Given the description of an element on the screen output the (x, y) to click on. 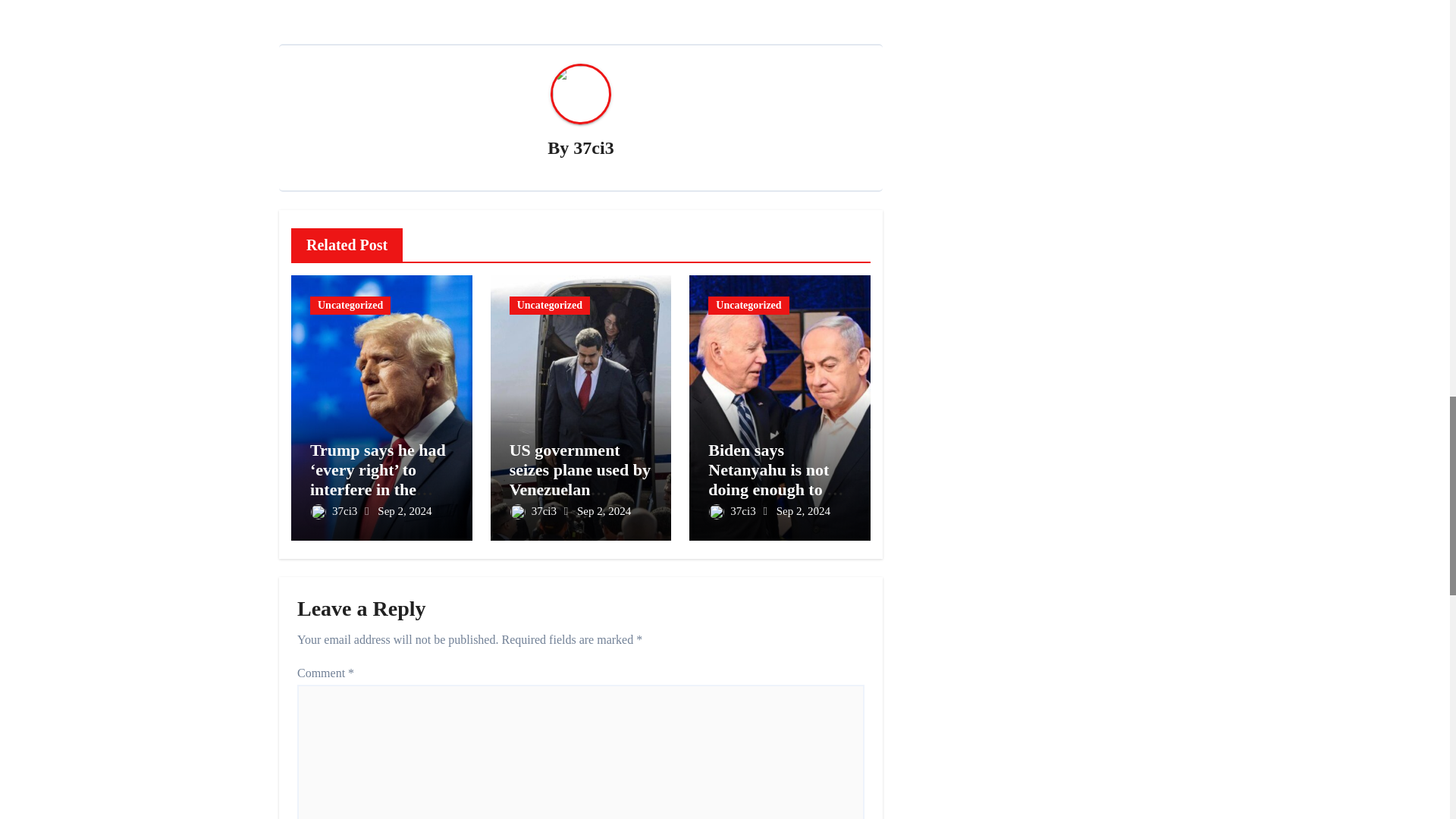
37ci3 (592, 148)
